Given the description of an element on the screen output the (x, y) to click on. 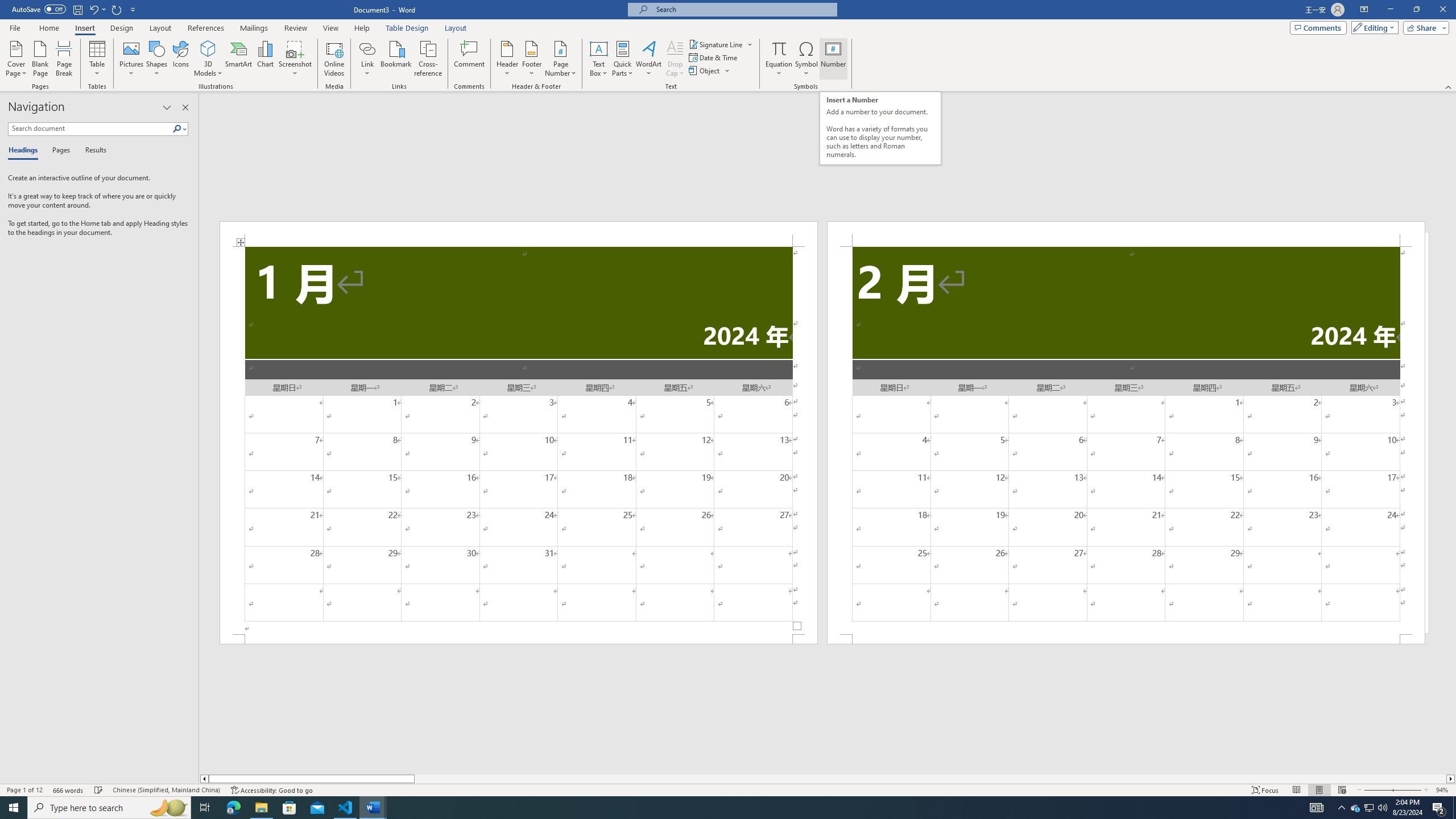
Headings (25, 150)
Column left (203, 778)
Page 2 content (1126, 439)
Results (91, 150)
Word Count 666 words (68, 790)
Bookmark... (396, 58)
Screenshot (295, 58)
